Given the description of an element on the screen output the (x, y) to click on. 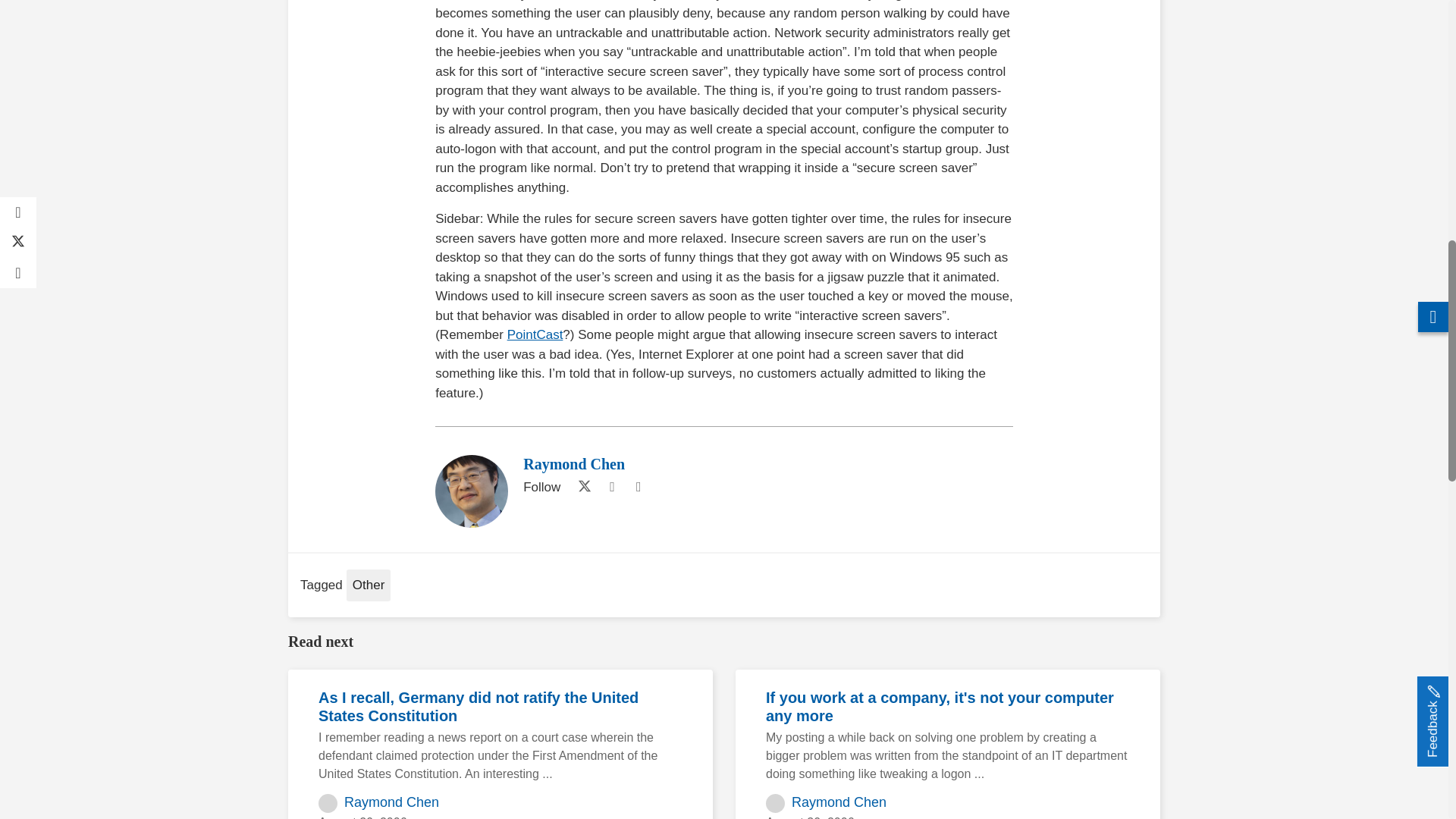
Twitter (581, 486)
RSS Feed (637, 486)
Github (611, 486)
